Given the description of an element on the screen output the (x, y) to click on. 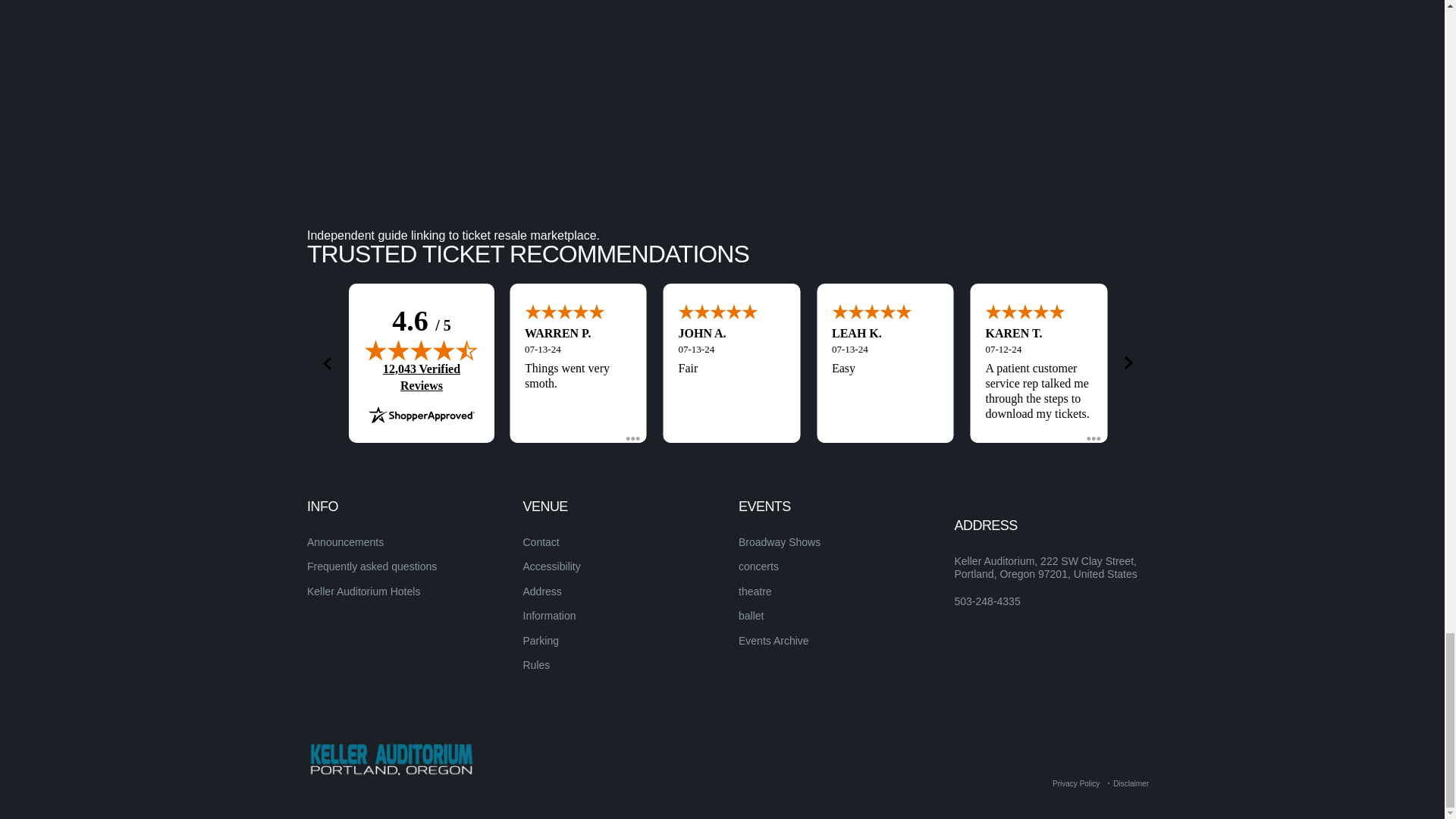
Contact (540, 541)
Announcements (345, 541)
Broadway Shows (779, 541)
Frequently asked questions (371, 566)
ballet (750, 615)
Address (542, 591)
Information (549, 615)
Rules (536, 664)
theatre (754, 591)
12,043 Verified Reviews (421, 377)
concerts (758, 566)
SUBSCRIBE (1095, 317)
Accessibility (551, 566)
Events Archive (773, 640)
Keller Auditorium Hotels (363, 591)
